Given the description of an element on the screen output the (x, y) to click on. 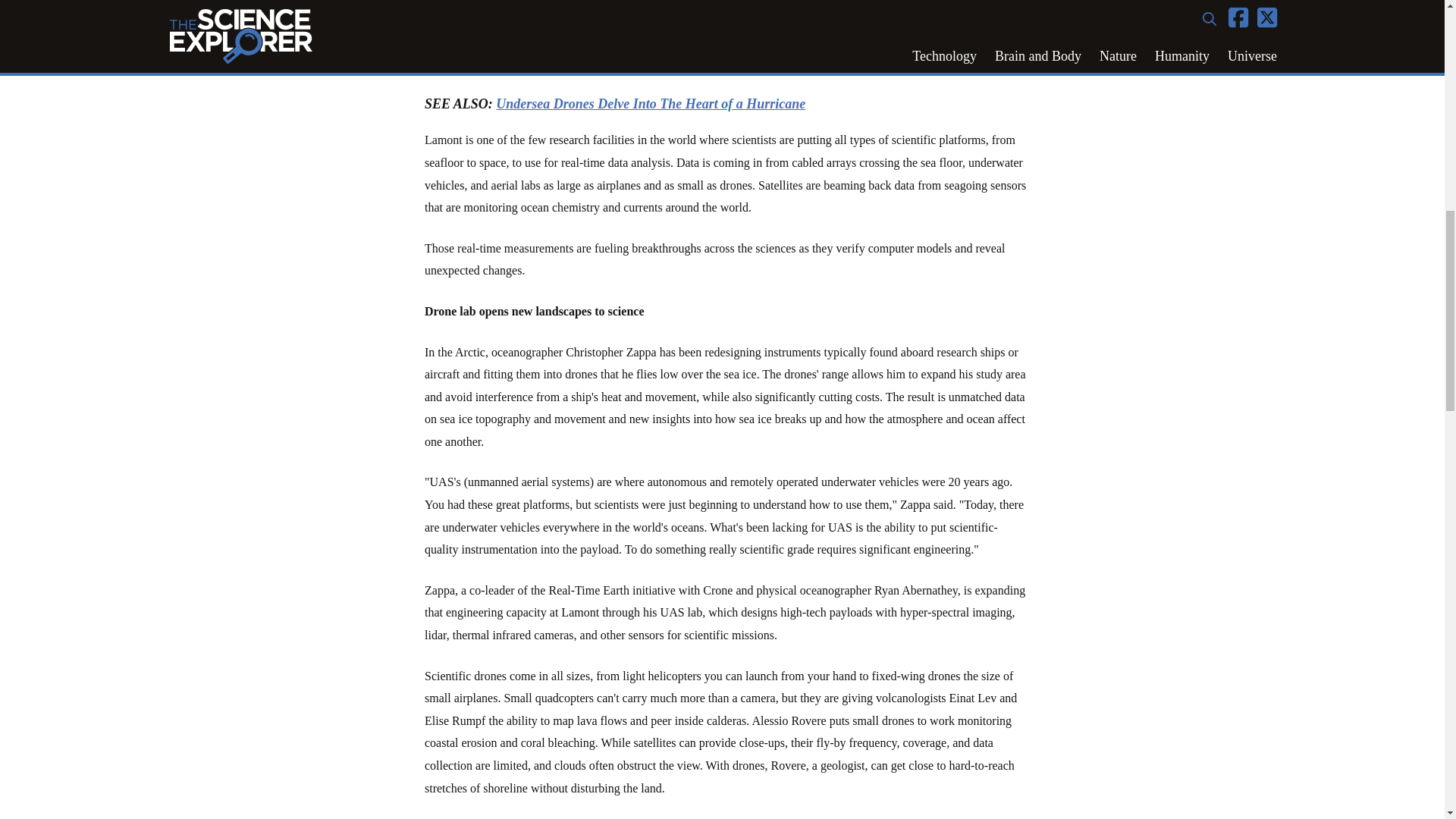
Undersea Drones Delve Into The Heart of a Hurricane (650, 103)
